Given the description of an element on the screen output the (x, y) to click on. 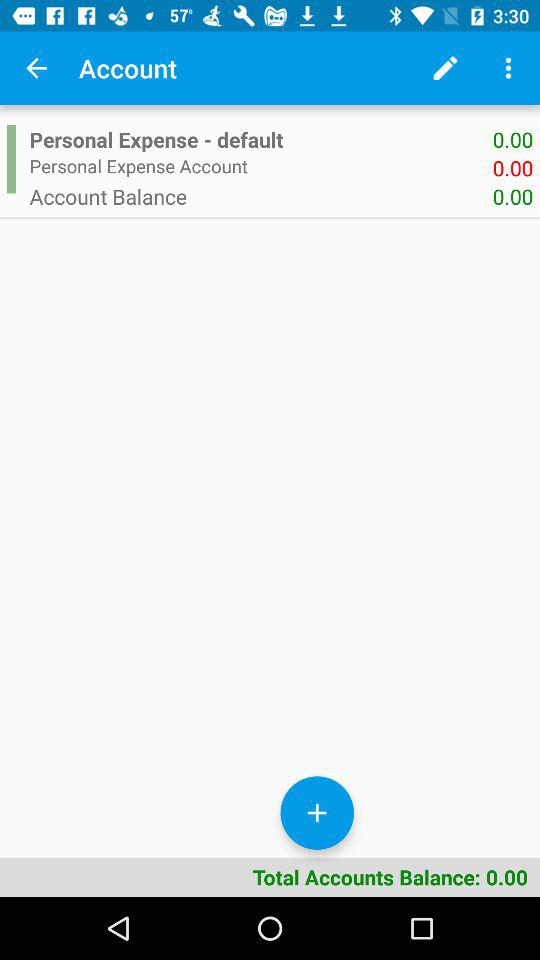
tap item next to the 0.00 item (260, 196)
